Given the description of an element on the screen output the (x, y) to click on. 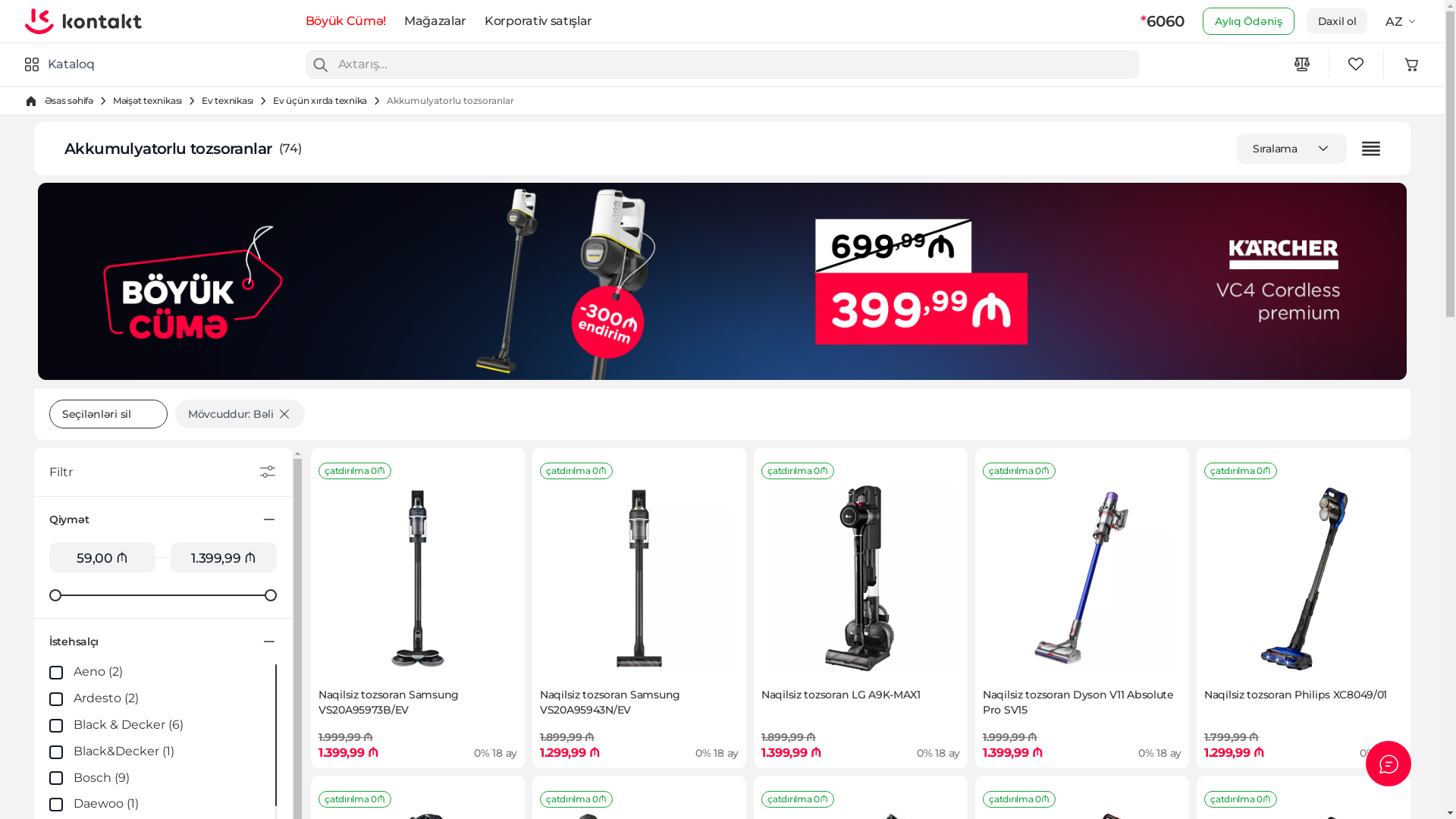
Naqilsiz tozsoran Dyson V11 Absolute Pro SV15 Element type: hover (1081, 578)
Kataloq Element type: text (59, 64)
Daxil ol Element type: text (1337, 21)
Naqilsiz tozsoran Samsung VS20A95943N/EV  Element type: hover (639, 578)
Naqilsiz tozsoran Philips XC8049/01 Element type: hover (1303, 578)
*6060 Element type: text (1162, 20)
Naqilsiz tozsoran Samsung VS20A95973B/EV	  Element type: hover (417, 578)
Naqilsiz tozsoran LG A9K-MAX1 Element type: hover (860, 578)
list Element type: hover (1370, 148)
